Given the description of an element on the screen output the (x, y) to click on. 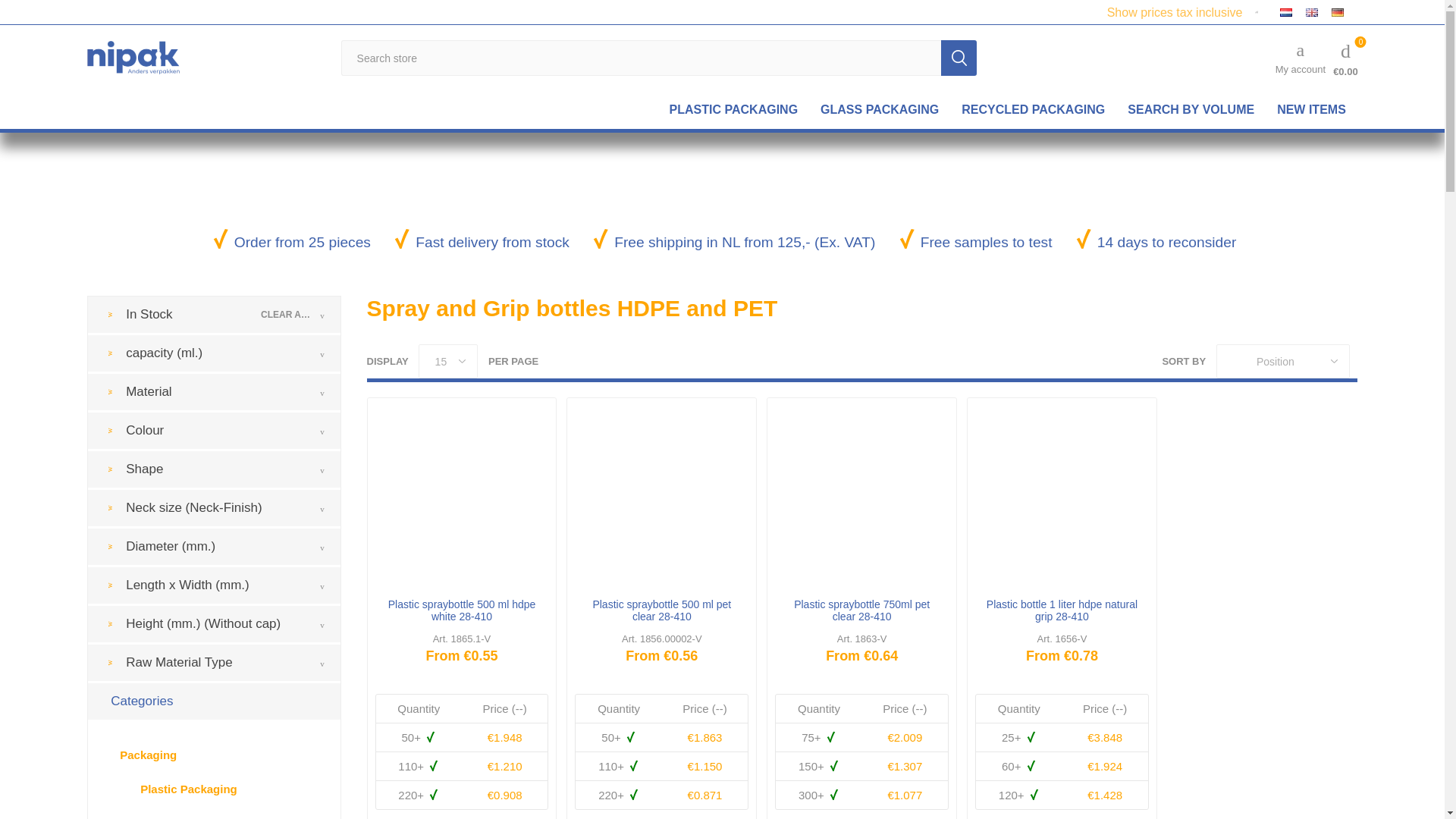
Deutsch (1336, 12)
RECYCLED PACKAGING (1033, 109)
Plastic Packaging (733, 109)
SEARCH BY VOLUME (1190, 109)
Deutsch (1337, 11)
Nederlands (1286, 12)
English (1311, 11)
GLASS PACKAGING (879, 109)
English (1311, 12)
PLASTIC PACKAGING (733, 109)
